Given the description of an element on the screen output the (x, y) to click on. 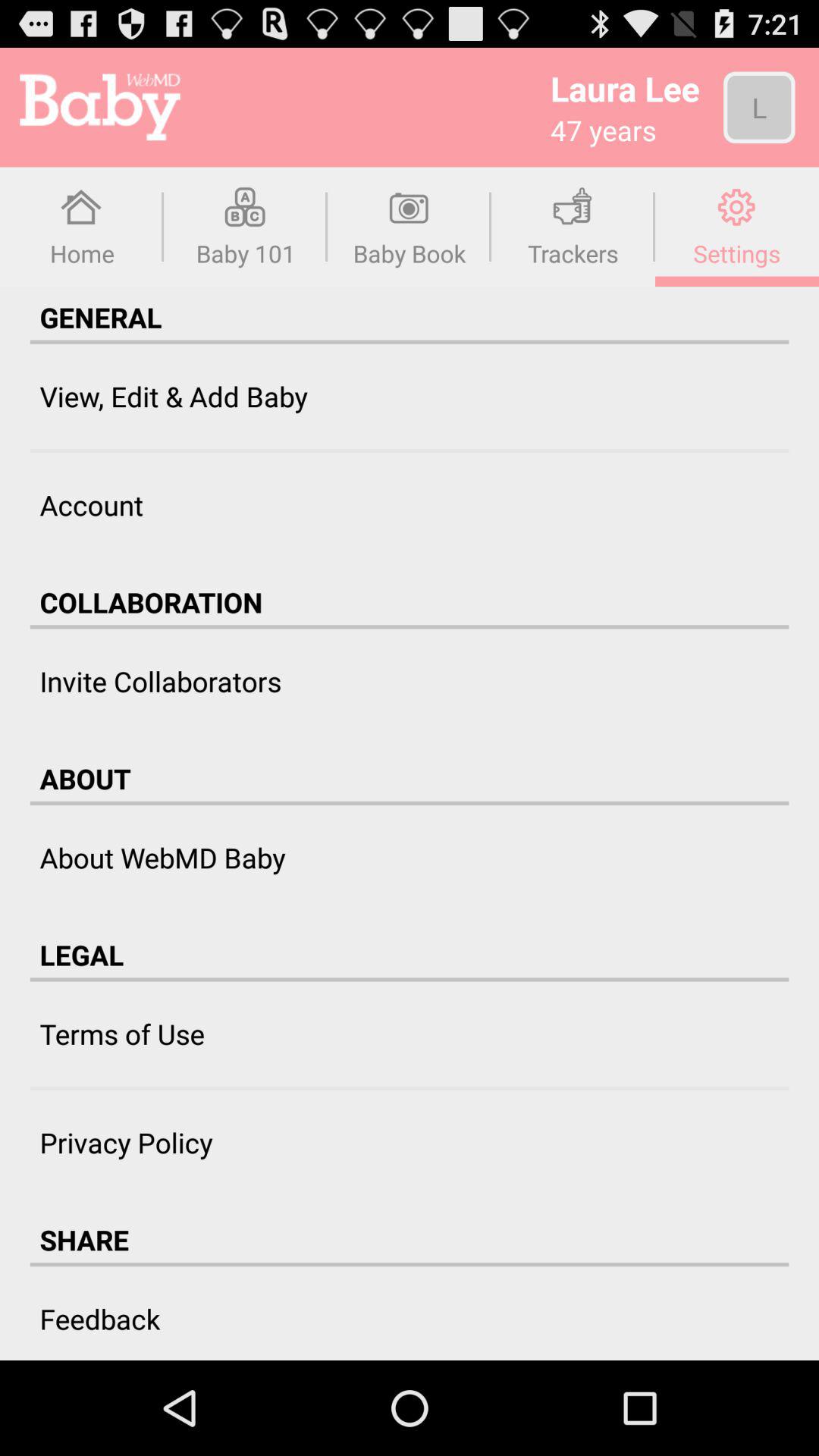
turn off the item above the legal item (162, 857)
